Given the description of an element on the screen output the (x, y) to click on. 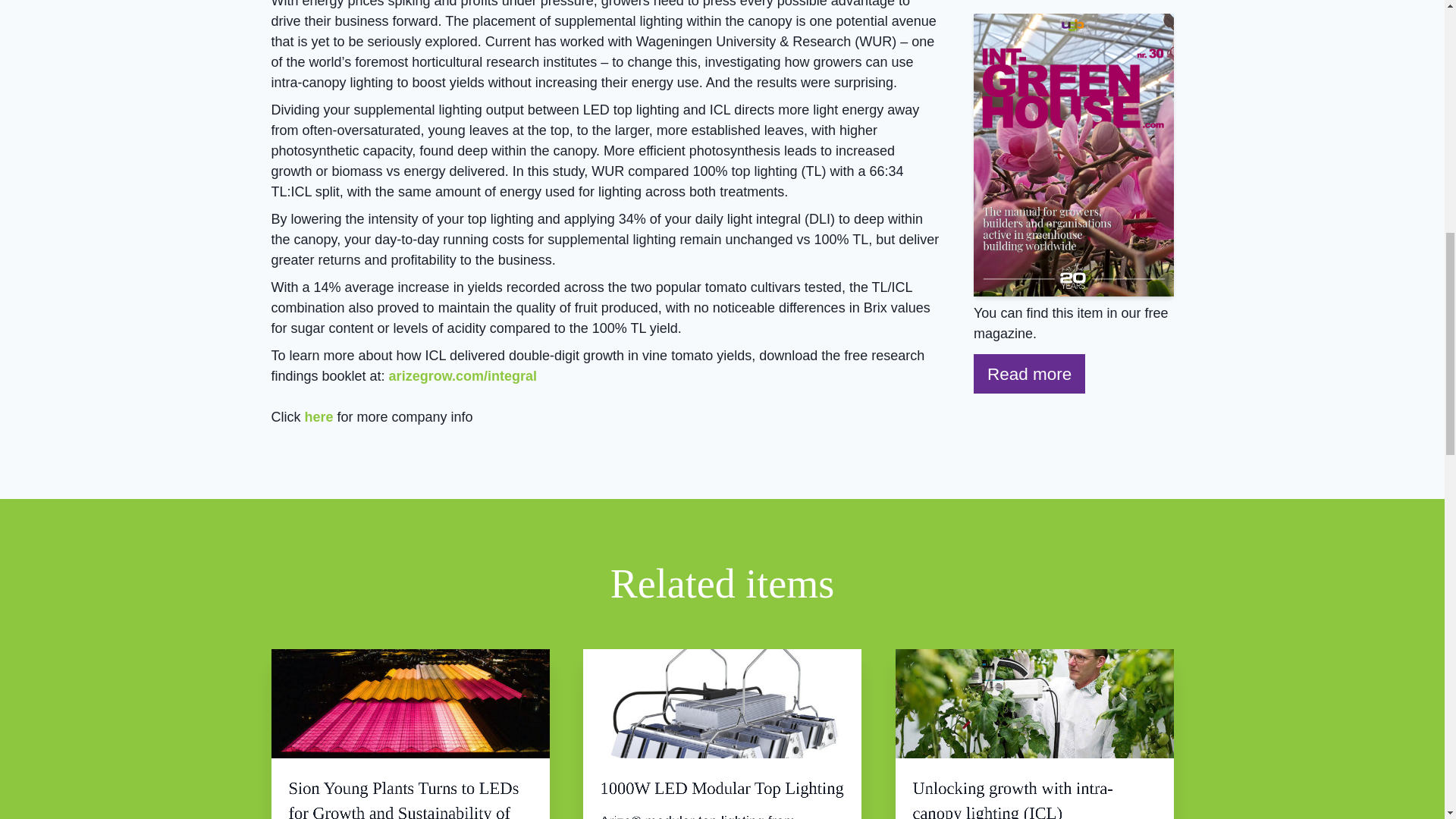
here (318, 417)
